Given the description of an element on the screen output the (x, y) to click on. 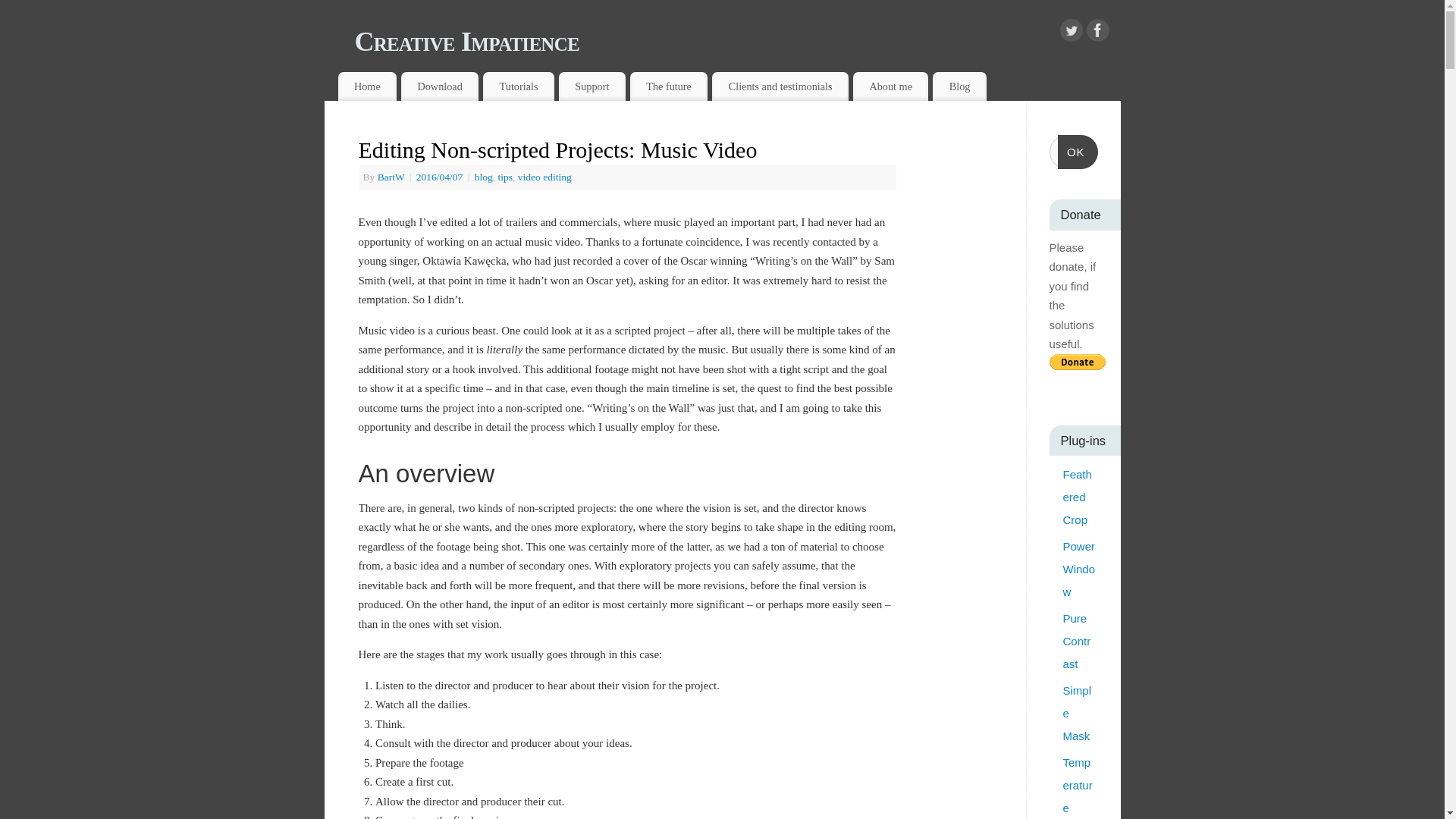
OK (1077, 151)
Ideas for the future fixes (668, 86)
tips (505, 176)
Creative Impatience (738, 41)
video editing (545, 176)
Tutorials (518, 86)
Welcome to the Solace of Simple Solutions! (367, 86)
Home (367, 86)
The future (668, 86)
Take advantage of the solutions that we provide (440, 86)
BartW (390, 176)
Clients and testimonials (779, 86)
Support (592, 86)
blog (483, 176)
Creative Impatience (738, 41)
